Given the description of an element on the screen output the (x, y) to click on. 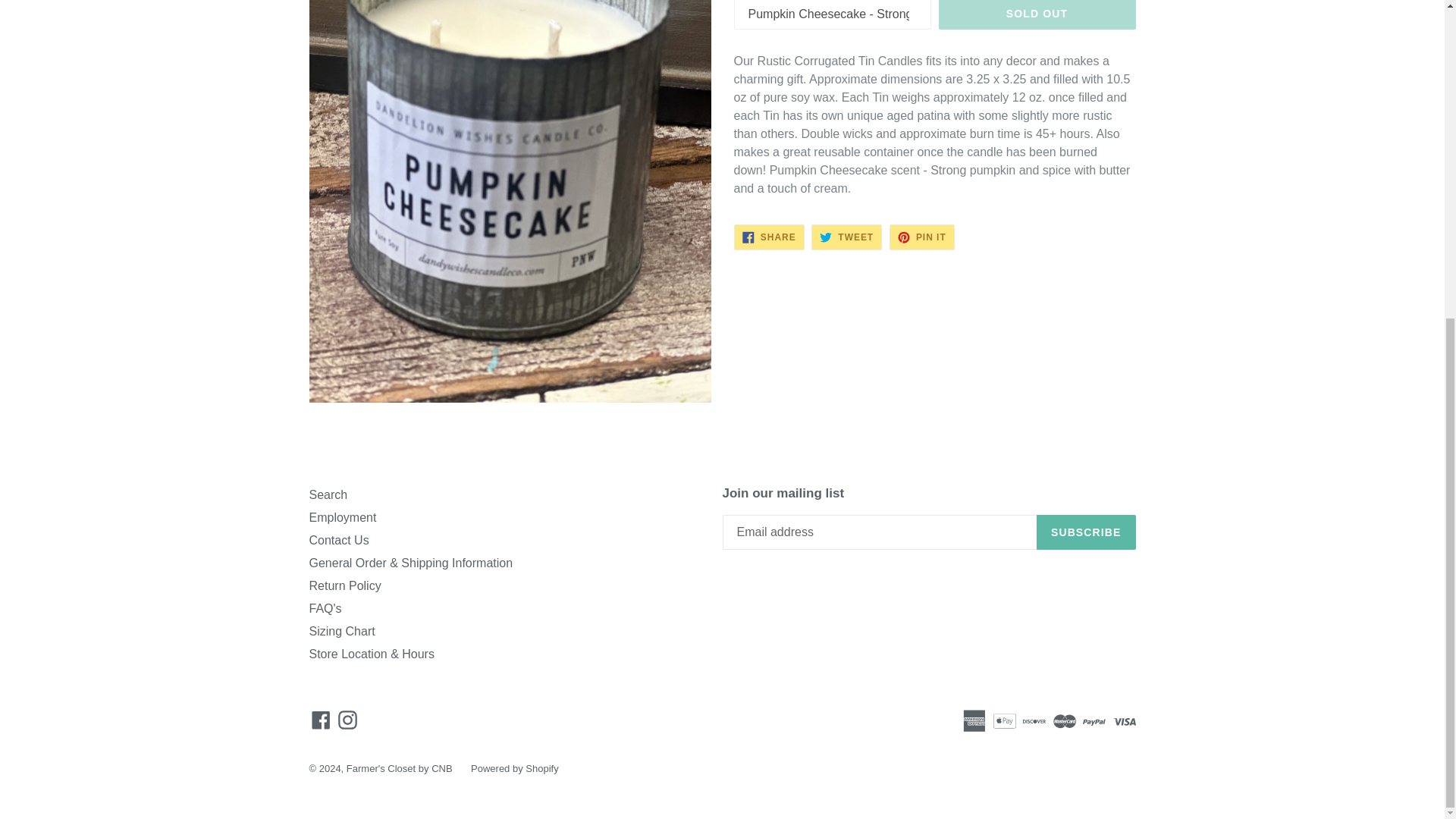
Tweet on Twitter (846, 237)
Farmer's Closet by CNB on Facebook (320, 719)
Pin on Pinterest (922, 237)
Farmer's Closet by CNB on Instagram (347, 719)
Share on Facebook (769, 237)
